Given the description of an element on the screen output the (x, y) to click on. 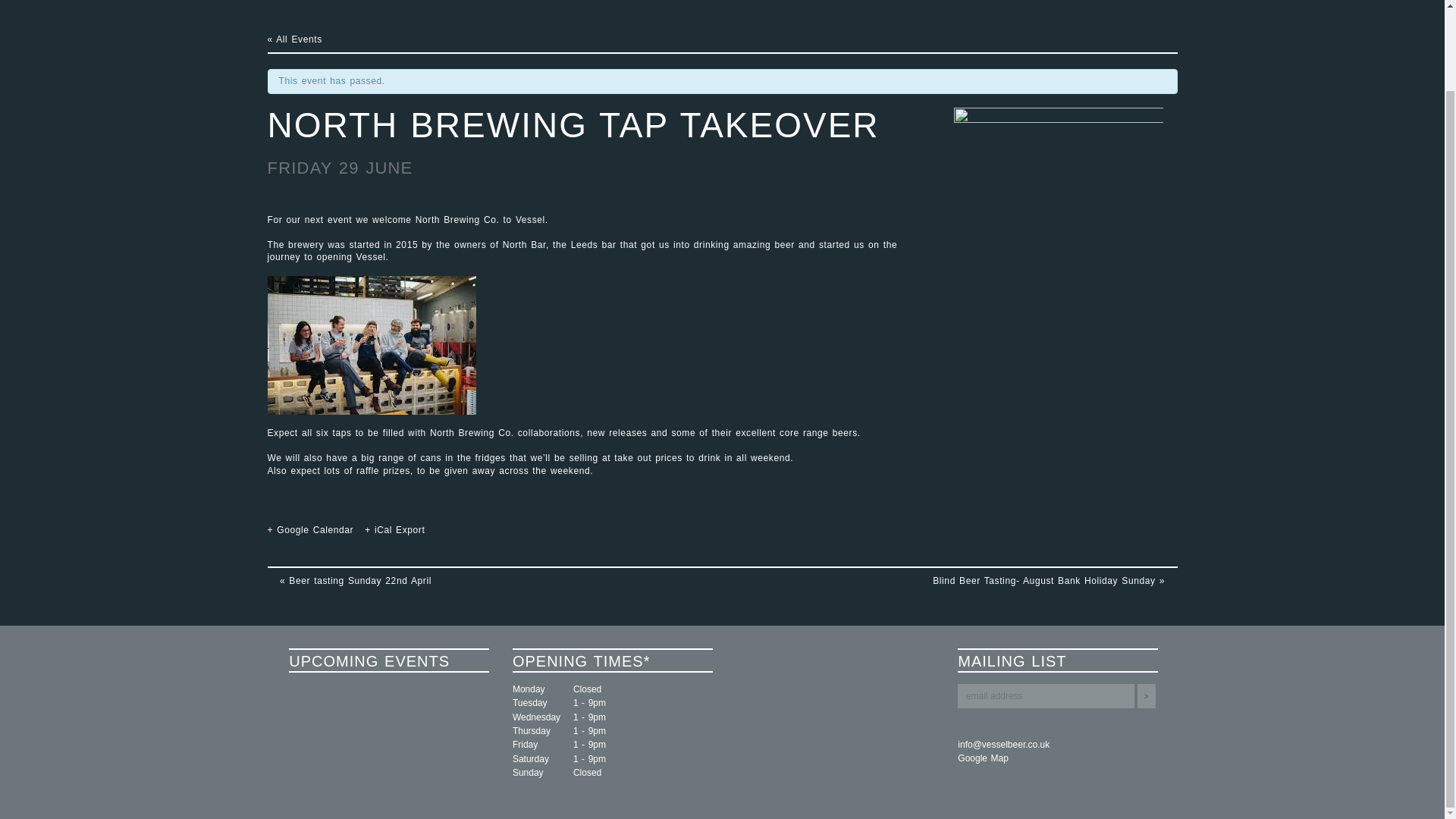
Download .ics file (395, 529)
Google Map (1057, 757)
Add to Google Calendar (309, 529)
